Given the description of an element on the screen output the (x, y) to click on. 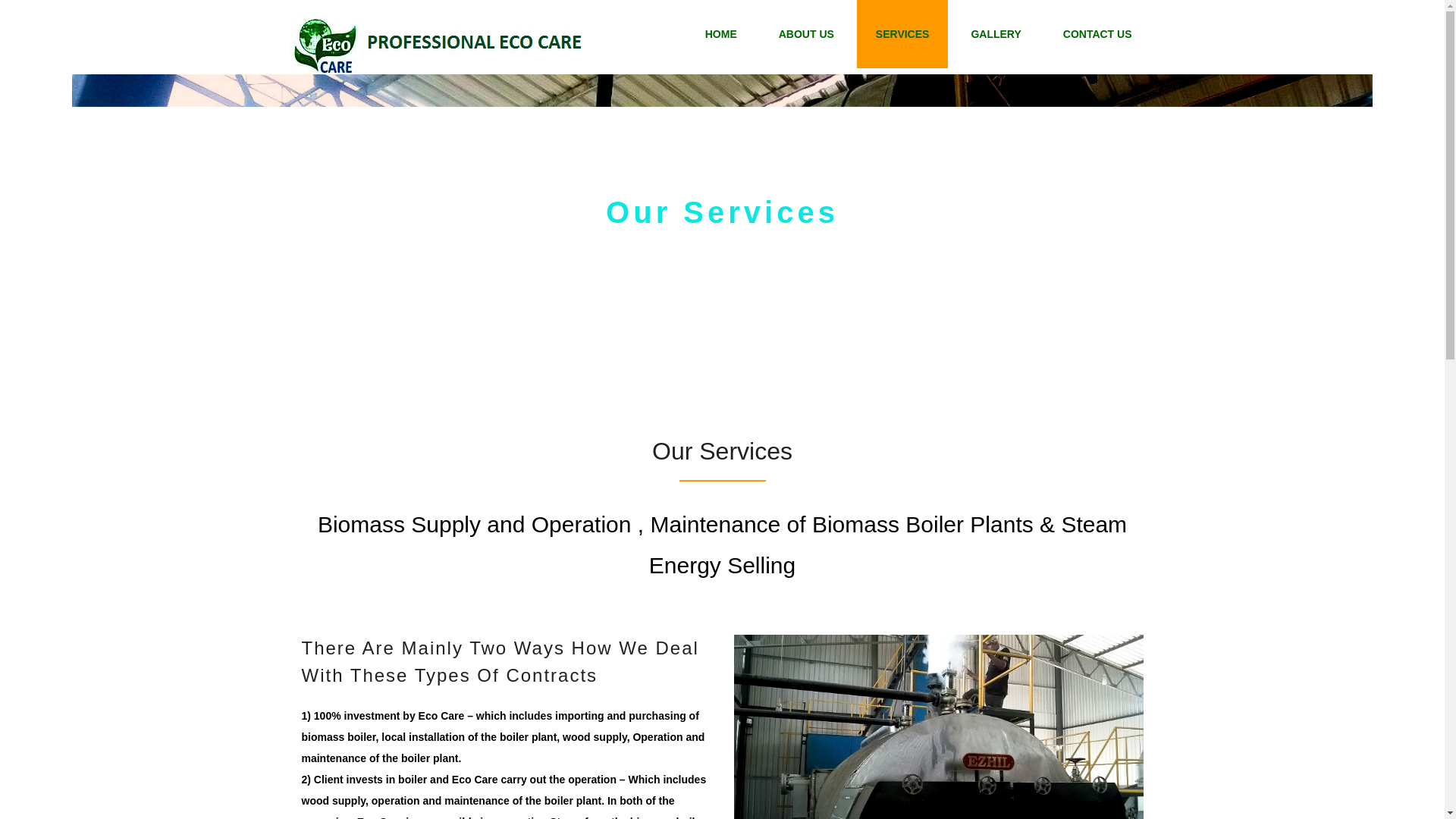
ABOUT US (806, 33)
SERVICES (903, 33)
HOME (720, 33)
GALLERY (995, 33)
CONTACT US (1097, 33)
